Given the description of an element on the screen output the (x, y) to click on. 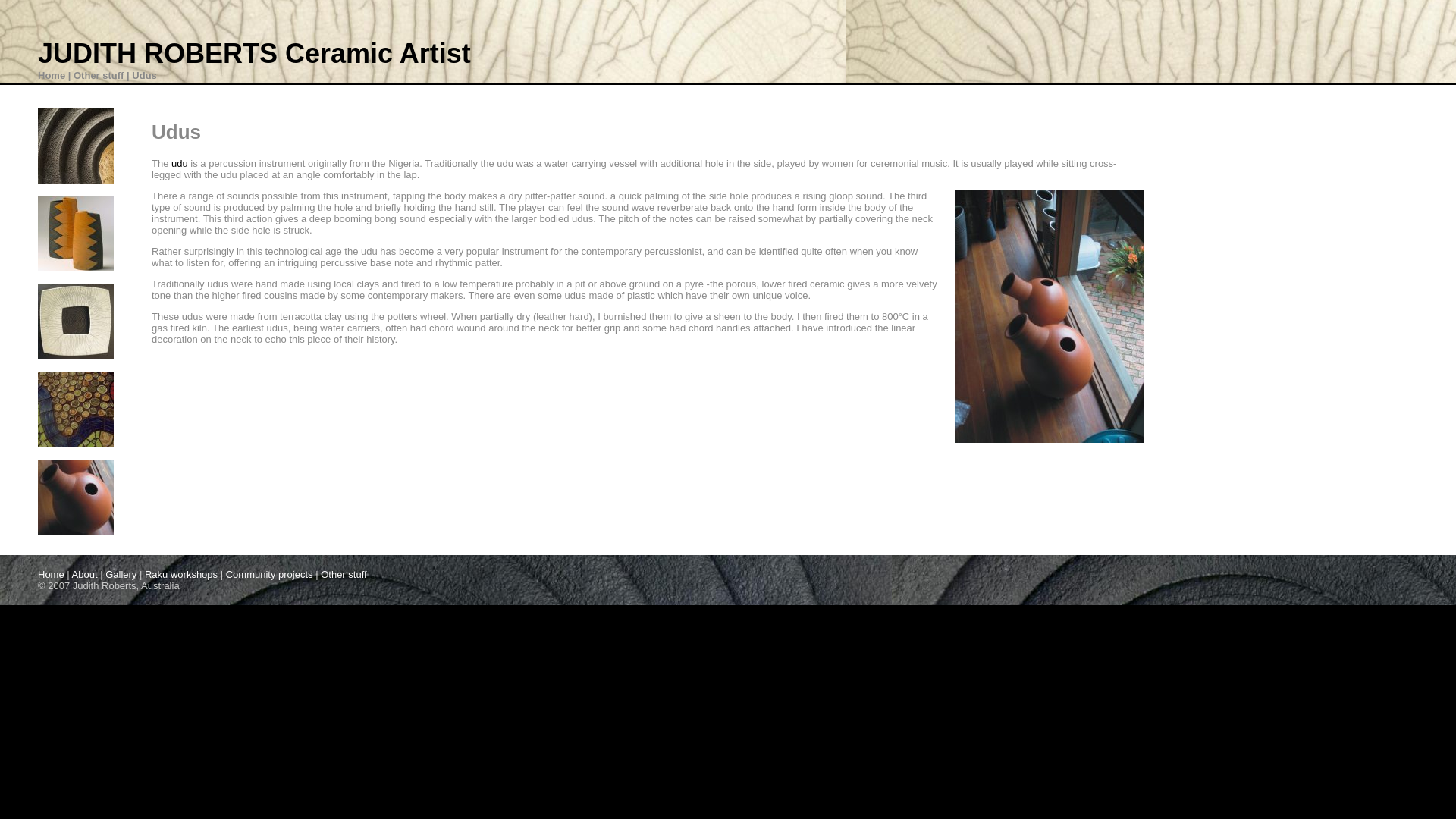
Home Element type: text (50, 574)
Catalog Element type: hover (75, 233)
udu Element type: text (179, 163)
Gallery Element type: text (120, 574)
About... Element type: hover (75, 145)
About Element type: text (84, 574)
Community projects Element type: text (269, 574)
Community projects Element type: hover (75, 409)
Raku workshops Element type: text (180, 574)
Raku workshops Element type: hover (75, 321)
Home Element type: text (51, 75)
Other stuff Element type: text (98, 75)
Other stuff Element type: hover (75, 497)
Other stuff Element type: text (343, 574)
